Given the description of an element on the screen output the (x, y) to click on. 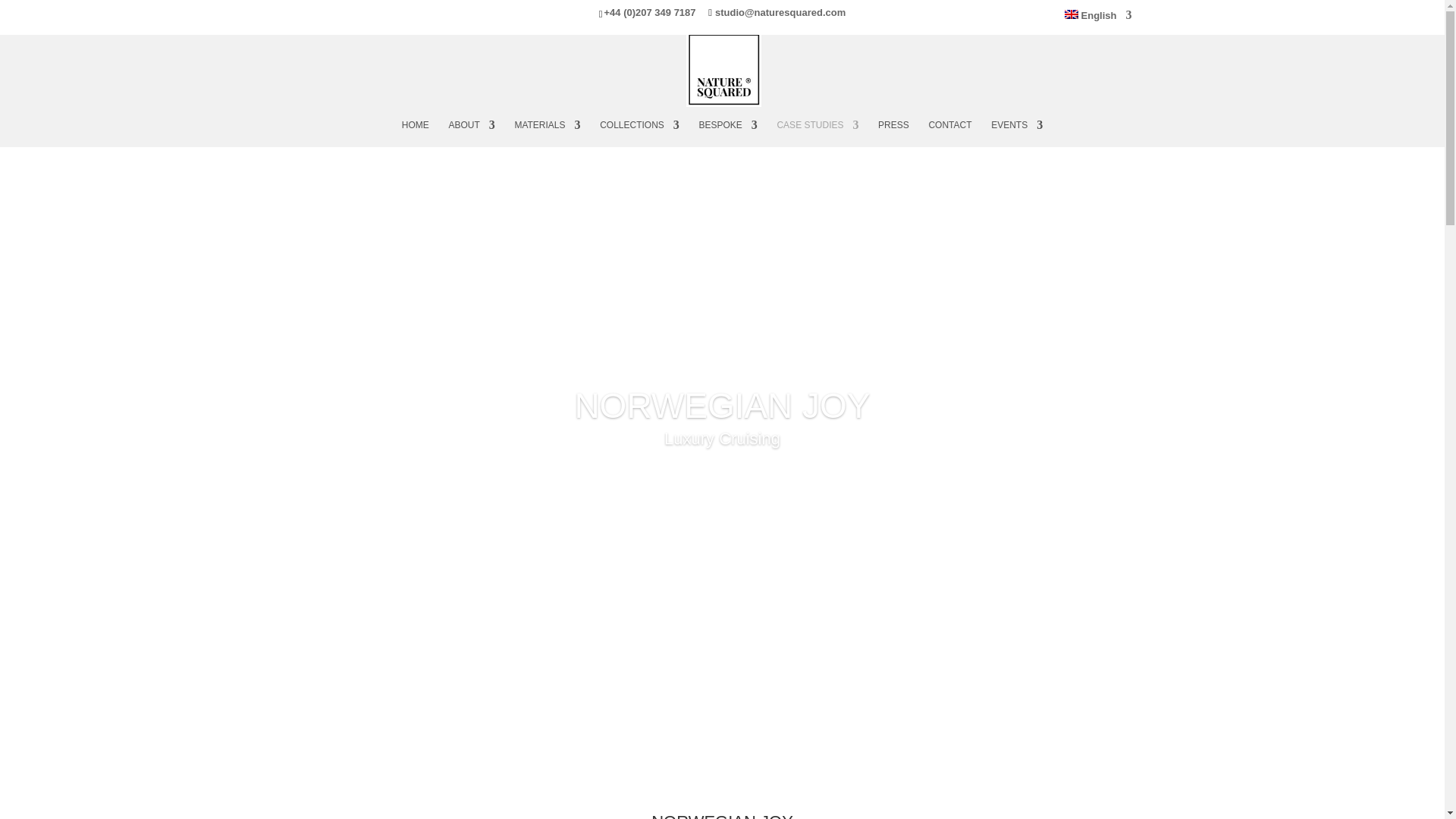
English (1098, 18)
MATERIALS (546, 133)
COLLECTIONS (639, 133)
BESPOKE (727, 133)
English (1098, 18)
ABOUT (471, 133)
CASE STUDIES (817, 133)
HOME (415, 133)
